Given the description of an element on the screen output the (x, y) to click on. 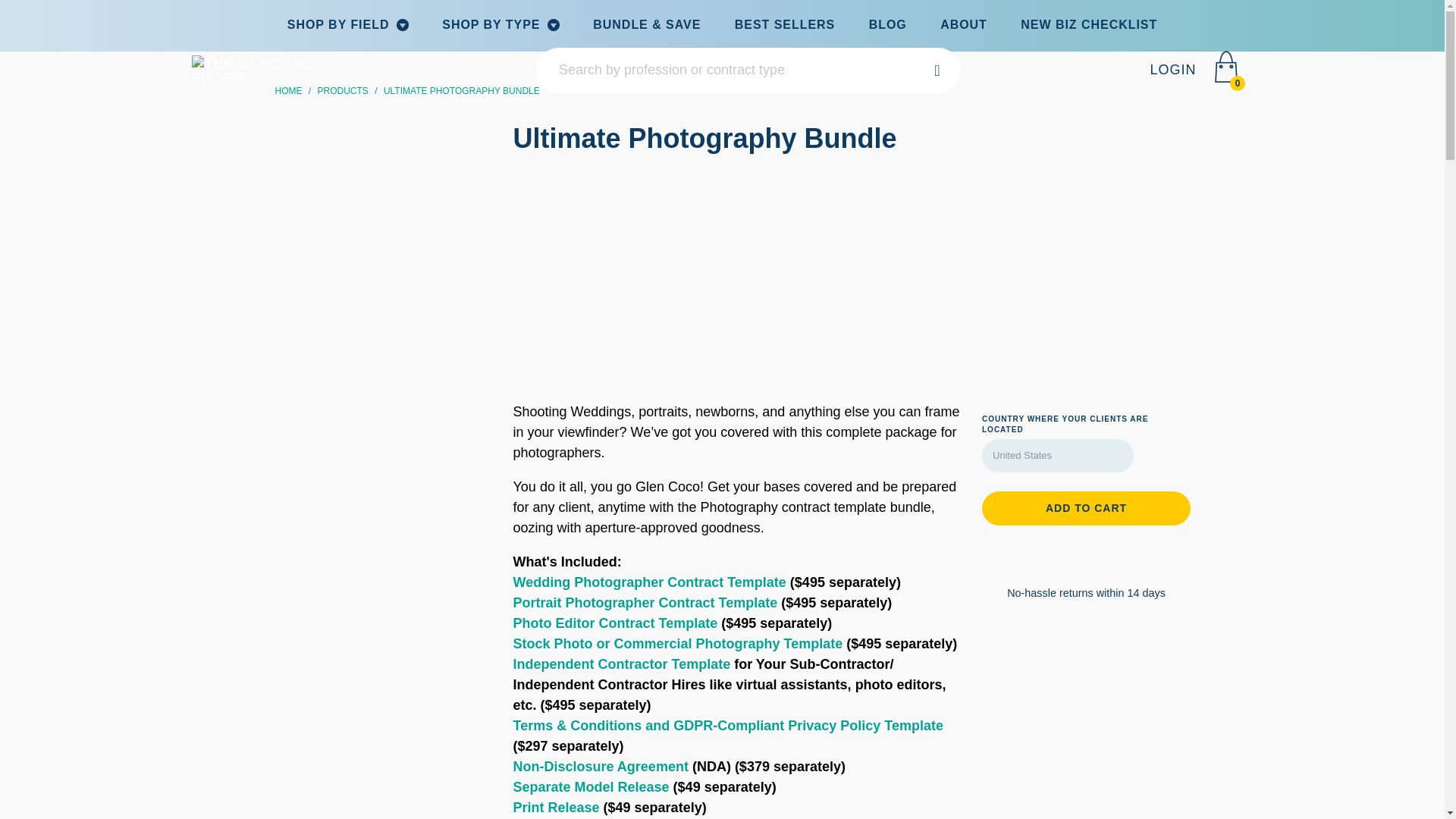
Model Release Template (590, 786)
Independent Contractor Contract Template (621, 663)
Commercial or Stock Photography Contract Template (677, 643)
SHOP BY FIELD (347, 25)
LOGIN (1172, 69)
0 (1225, 69)
SHOP BY TYPE (500, 25)
Print Release Contract Template (555, 807)
My Account  (1172, 69)
Wedding Photography Contract Template (649, 581)
Portrait Photography Contract Template (644, 602)
Products (342, 90)
